Given the description of an element on the screen output the (x, y) to click on. 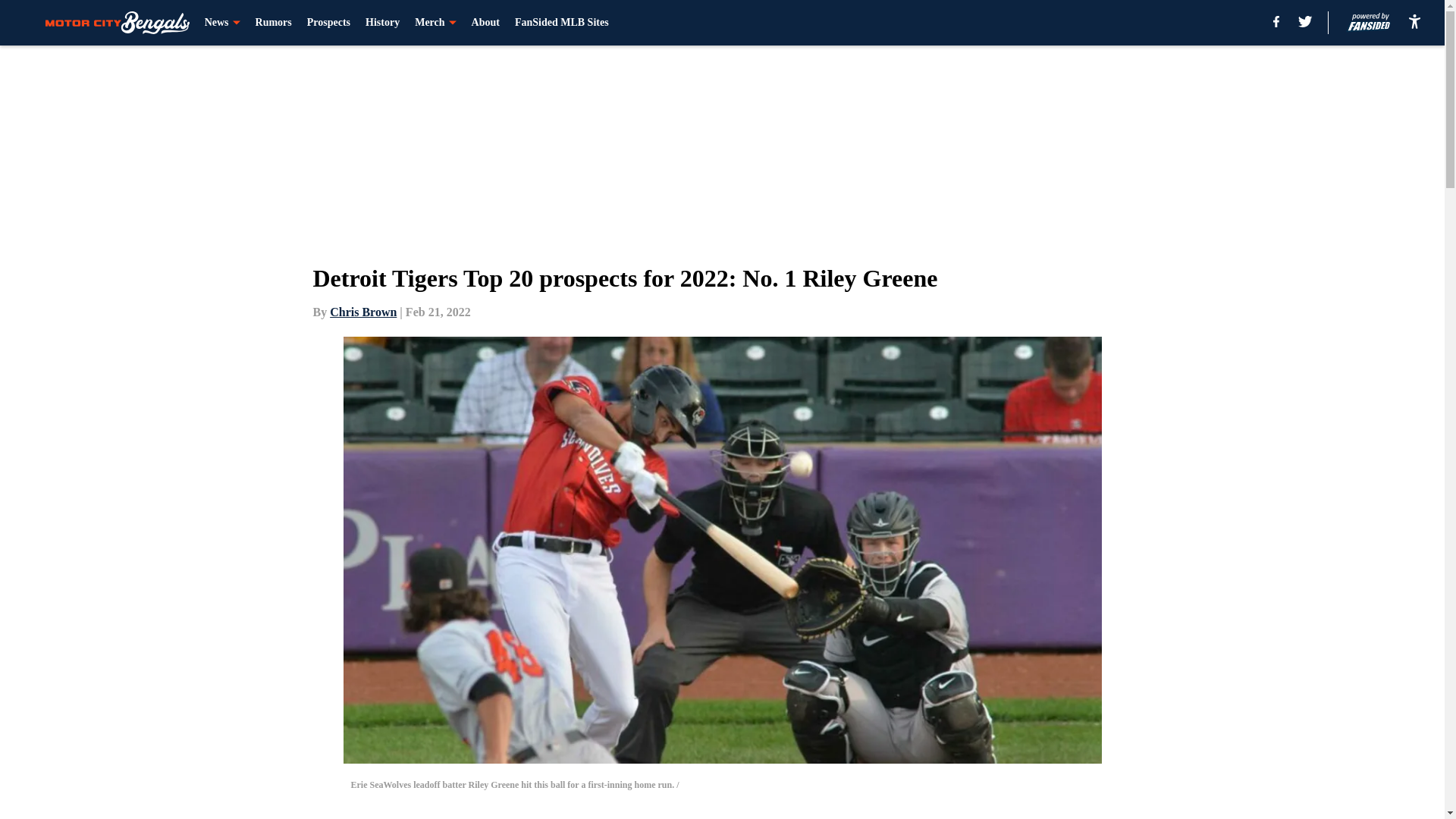
Prospects (328, 22)
Rumors (274, 22)
History (381, 22)
FanSided MLB Sites (561, 22)
About (485, 22)
Chris Brown (363, 311)
News (222, 22)
